Given the description of an element on the screen output the (x, y) to click on. 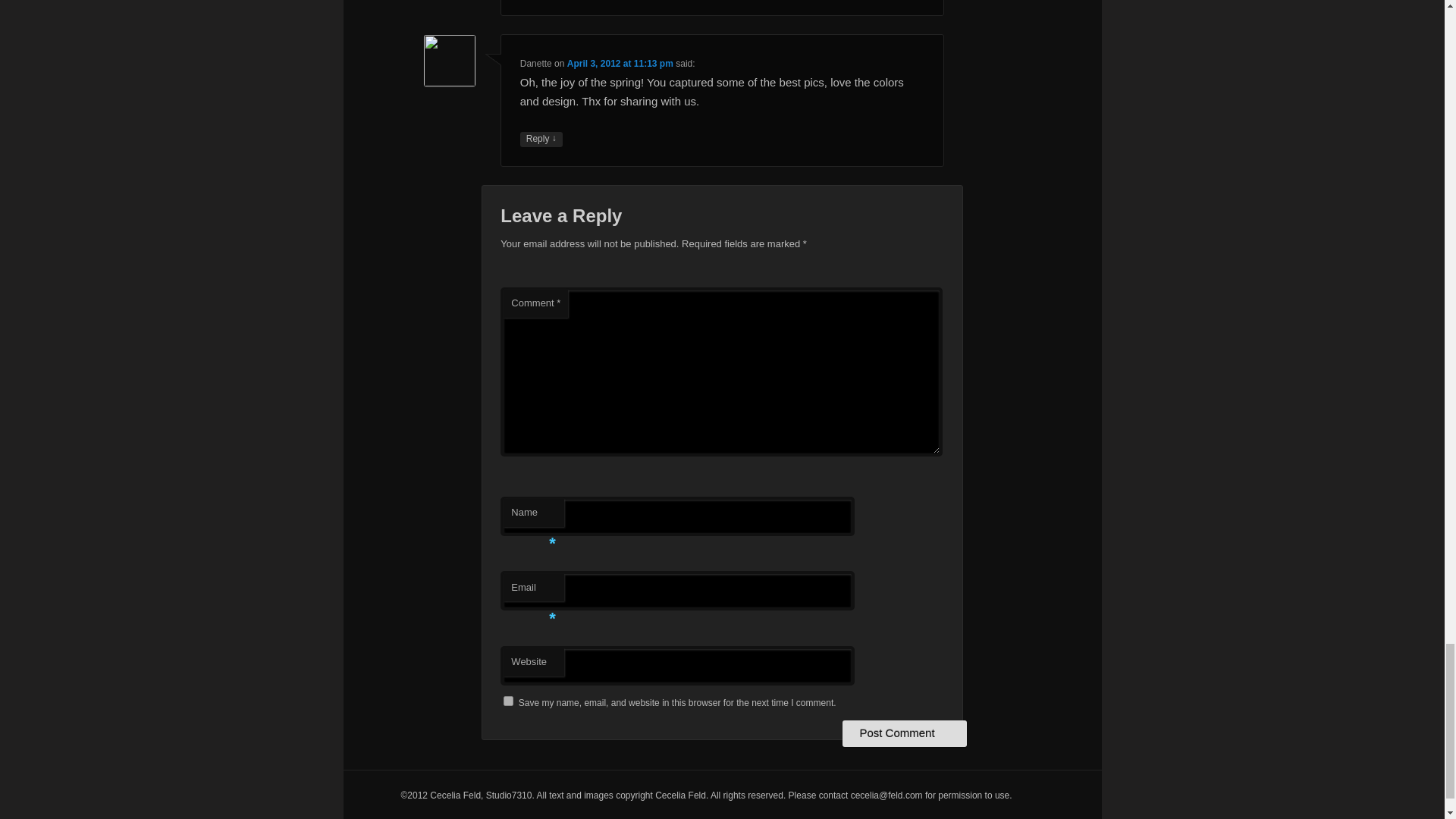
April 3, 2012 at 11:13 pm (619, 63)
Post Comment (904, 733)
Post Comment (904, 733)
yes (508, 700)
